Given the description of an element on the screen output the (x, y) to click on. 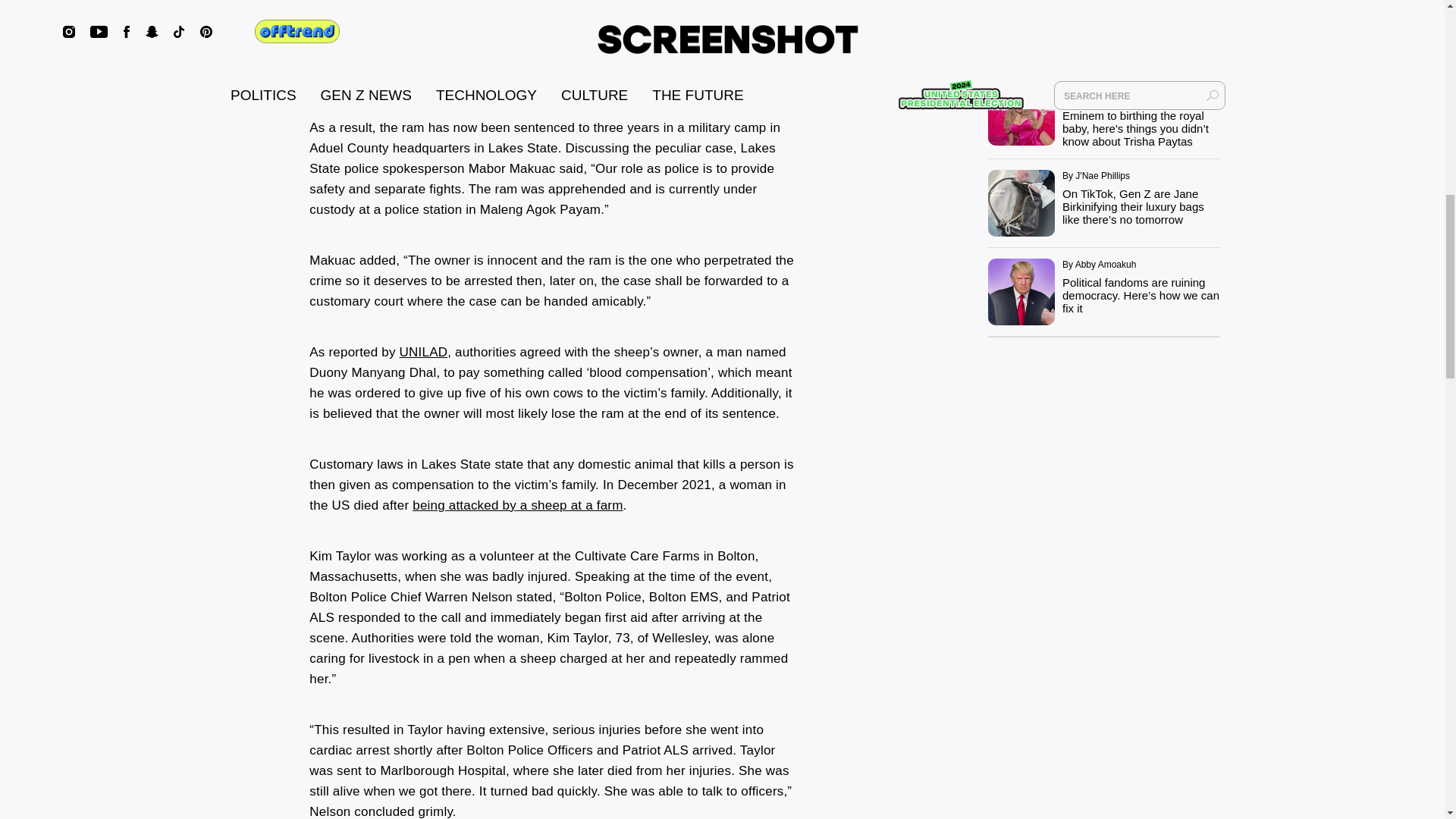
Adhieu Chaping (456, 76)
